Given the description of an element on the screen output the (x, y) to click on. 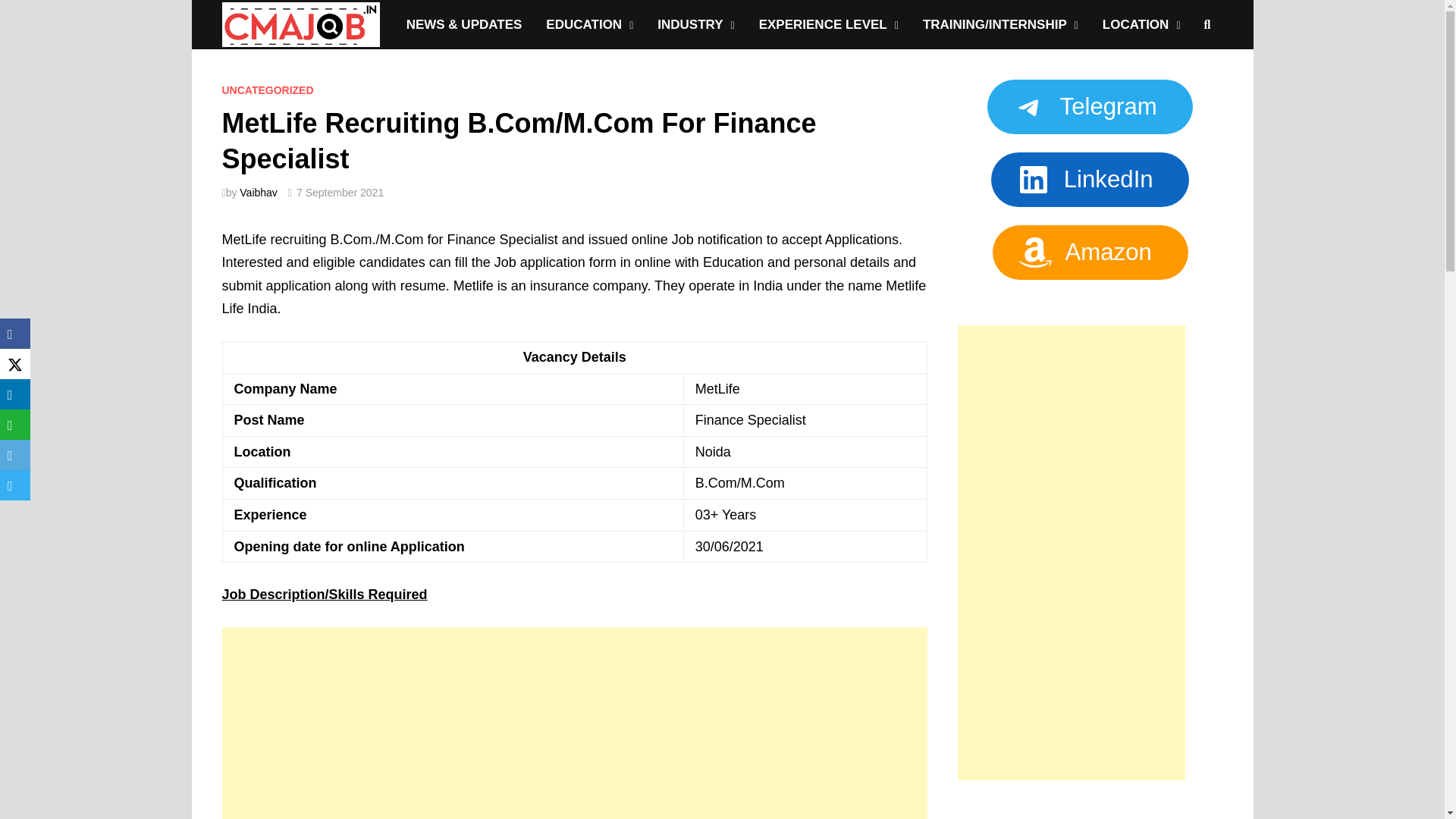
INDUSTRY (695, 24)
Advertisement (574, 723)
EXPERIENCE LEVEL (828, 24)
EDUCATION (589, 24)
LOCATION (1141, 24)
